Given the description of an element on the screen output the (x, y) to click on. 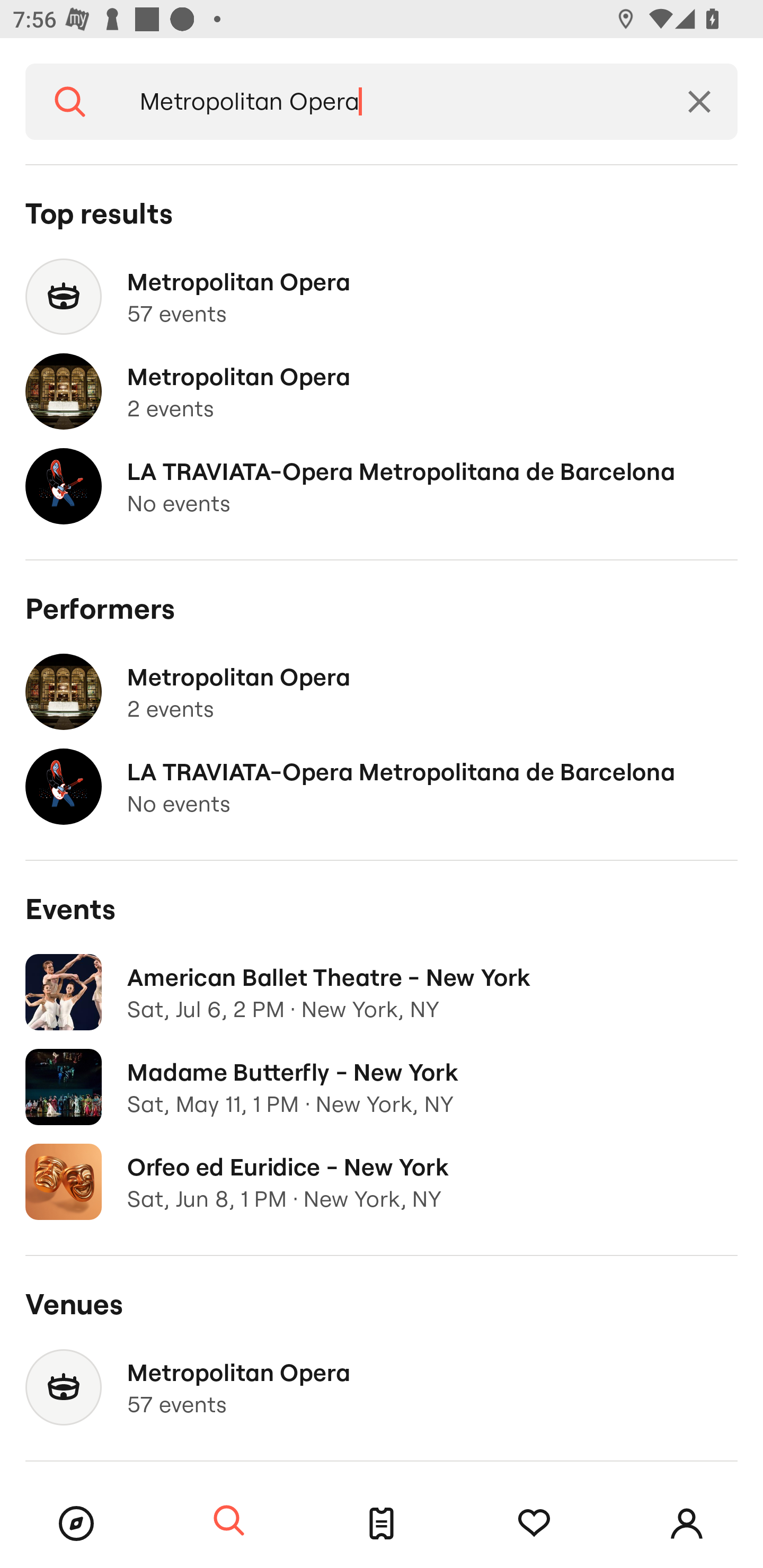
Search (69, 101)
Metropolitan Opera (387, 101)
Clear (699, 101)
Metropolitan Opera 57 events (381, 296)
Metropolitan Opera 2 events (381, 391)
Metropolitan Opera 2 events (381, 692)
Metropolitan Opera 57 events (381, 1387)
Browse (76, 1523)
Search (228, 1521)
Tickets (381, 1523)
Tracking (533, 1523)
Account (686, 1523)
